Given the description of an element on the screen output the (x, y) to click on. 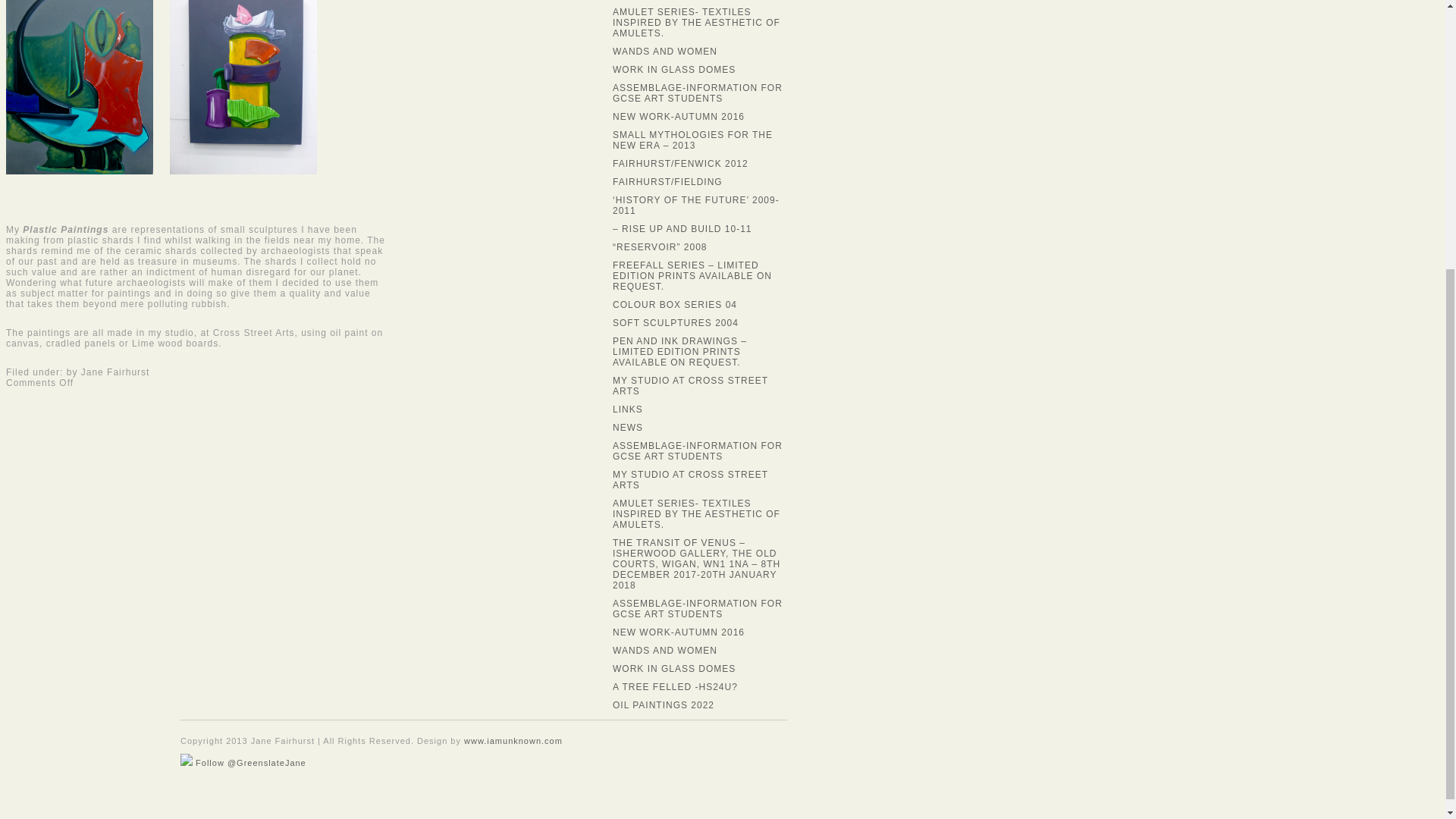
NEW WORK-AUTUMN 2016 (678, 632)
ASSEMBLAGE-INFORMATION FOR GCSE ART STUDENTS (697, 450)
WANDS AND WOMEN (664, 650)
COLOUR BOX SERIES 04 (674, 304)
WANDS AND WOMEN (664, 50)
LINKS (627, 409)
ASSEMBLAGE-INFORMATION FOR GCSE ART STUDENTS (697, 608)
MY STUDIO AT CROSS STREET ARTS (690, 479)
NEW WORK-AUTUMN 2016 (678, 116)
ASSEMBLAGE-INFORMATION FOR GCSE ART STUDENTS (697, 93)
NEWS (627, 427)
SOFT SCULPTURES 2004 (675, 322)
WORK IN GLASS DOMES (673, 69)
